Given the description of an element on the screen output the (x, y) to click on. 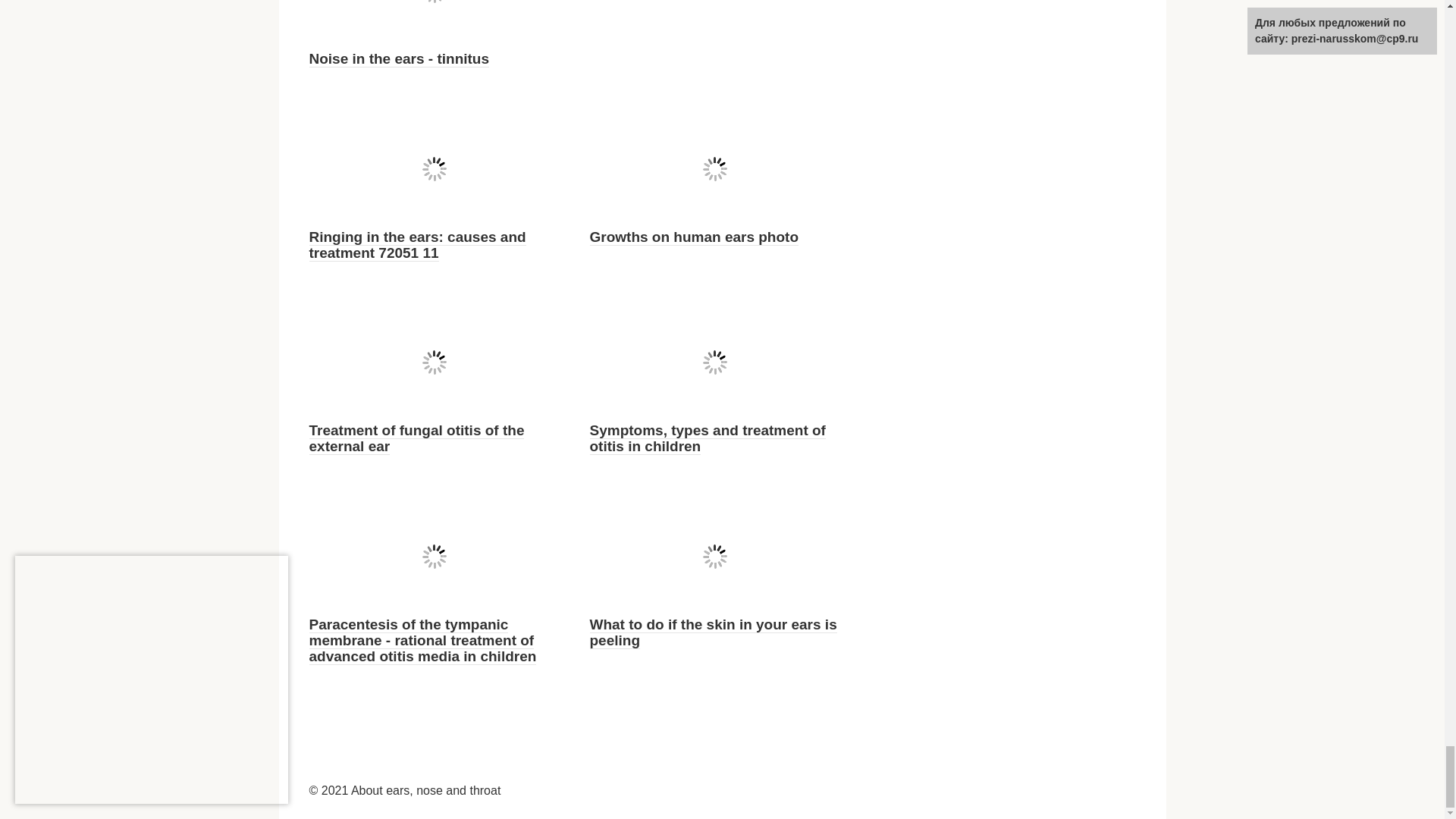
Ringing in the ears: causes and treatment 72051 11 (416, 245)
Growths on human ears photo (694, 237)
Treatment of fungal otitis of the external ear (416, 438)
Symptoms, types and treatment of otitis in children (707, 438)
Noise in the ears - tinnitus (398, 58)
